Given the description of an element on the screen output the (x, y) to click on. 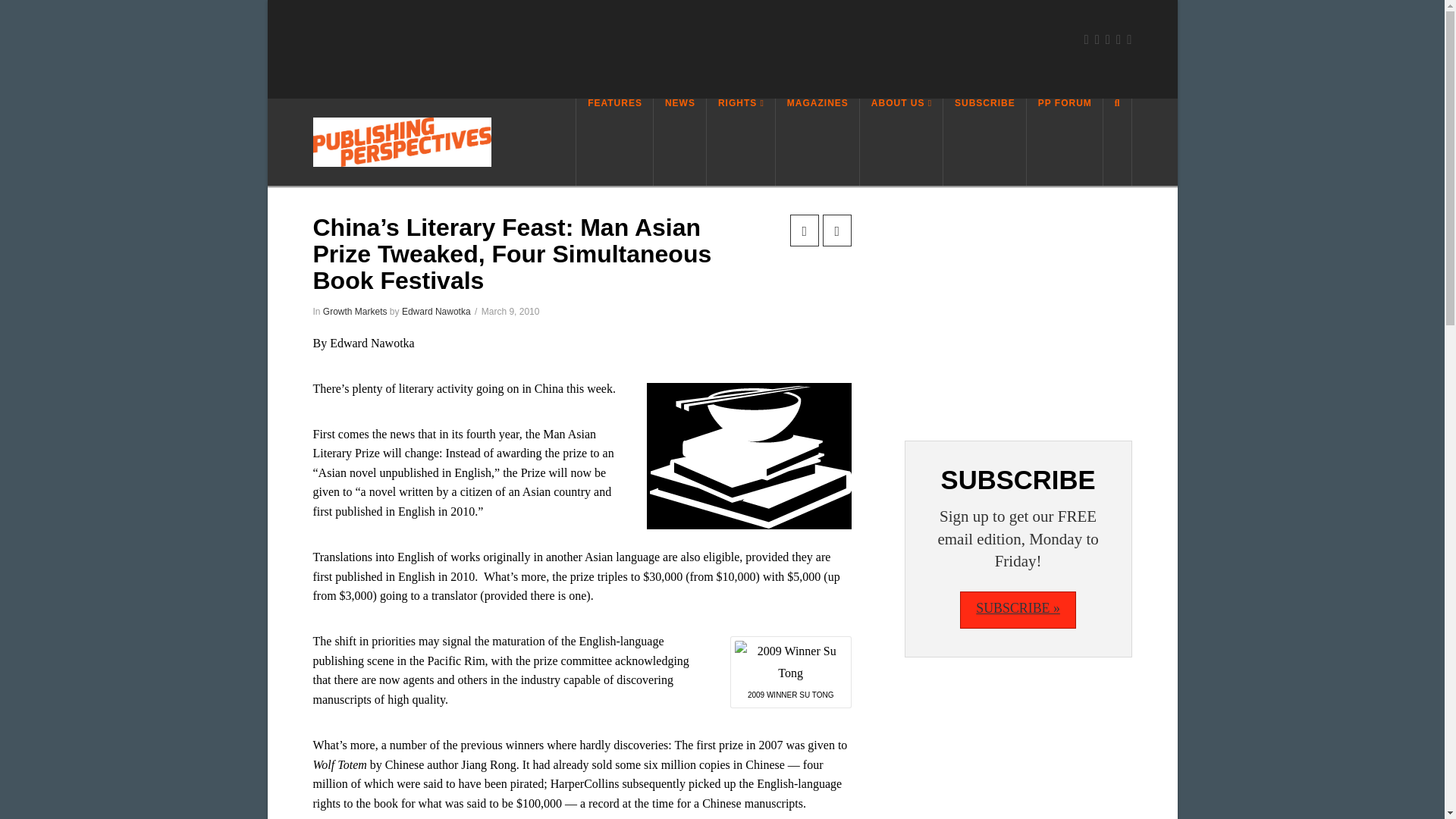
2009 winner Su Tong (791, 662)
ABOUT US (901, 141)
PP FORUM (1064, 141)
MAGAZINES (818, 141)
Growth Markets (355, 311)
LinkedIn (1107, 39)
NEWS (679, 141)
FEATURES (614, 141)
RSS (1128, 39)
Man Asian Prize (748, 456)
Twitter (1096, 39)
YouTube (1118, 39)
Facebook (1085, 39)
RIGHTS (741, 141)
Edward Nawotka (435, 311)
